Given the description of an element on the screen output the (x, y) to click on. 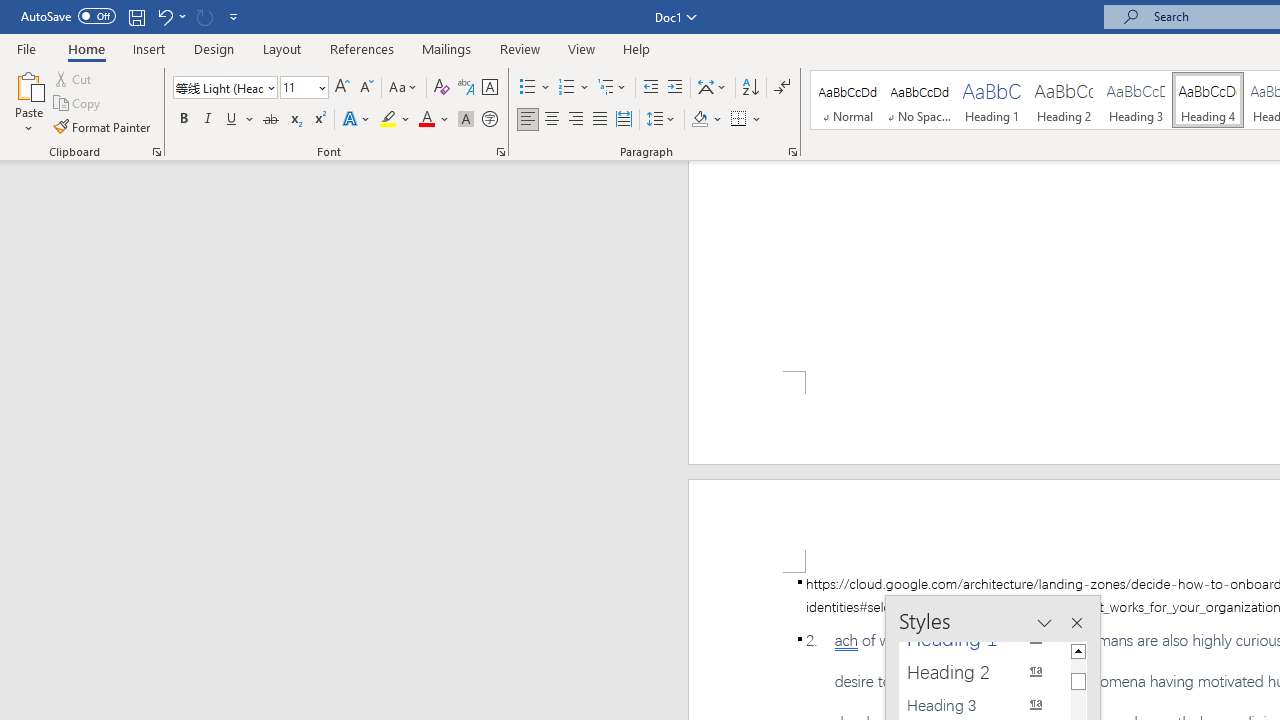
Italic (207, 119)
Save (136, 15)
Subscript (294, 119)
Clear Formatting (442, 87)
Heading 1 (991, 100)
Close pane (1076, 623)
Task Pane Options (1044, 623)
More Options (757, 119)
Open (320, 87)
Show/Hide Editing Marks (781, 87)
Sort... (750, 87)
Heading 4 (1208, 100)
System (10, 11)
Phonetic Guide... (465, 87)
